Given the description of an element on the screen output the (x, y) to click on. 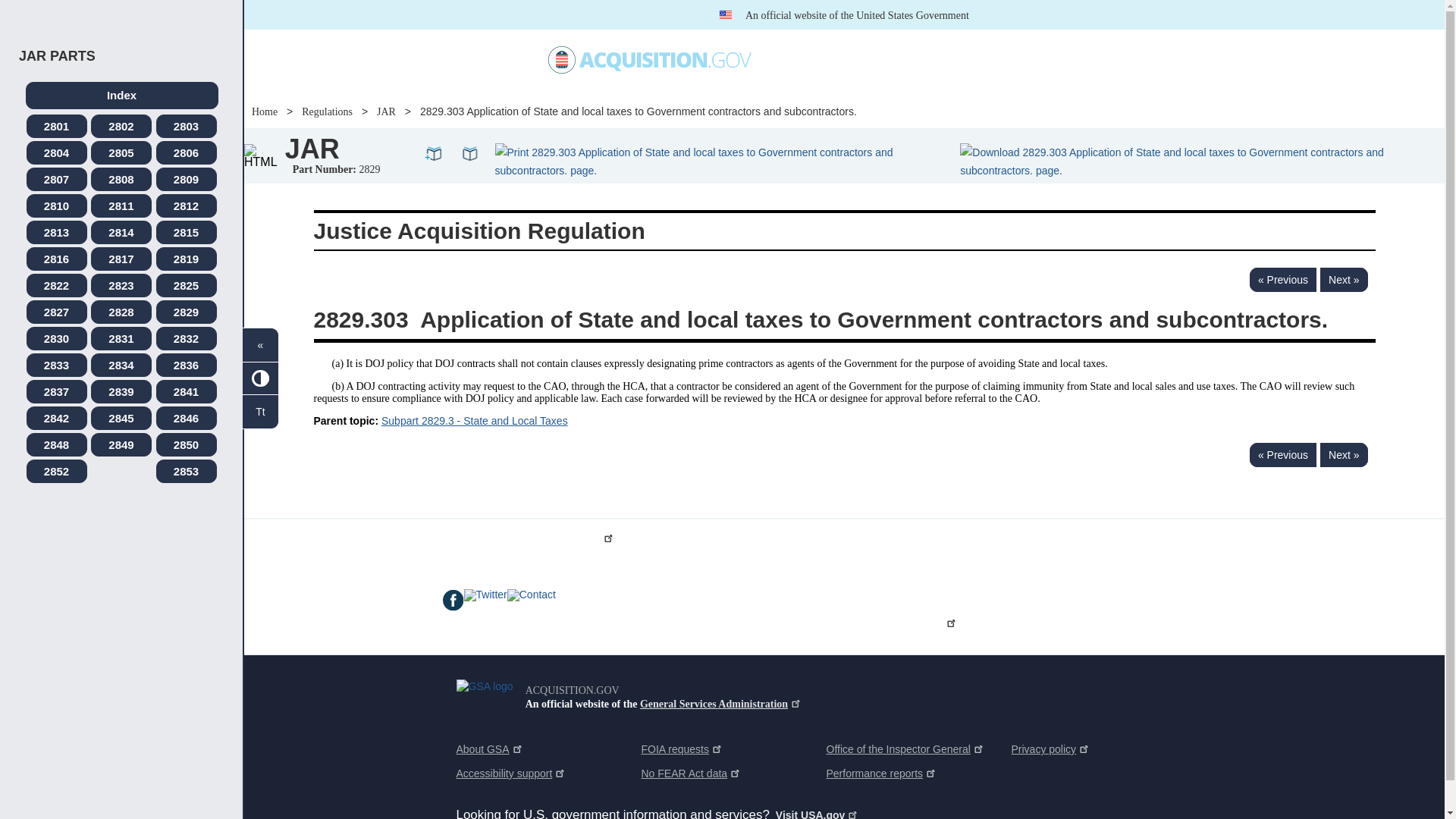
Data Initiatives (803, 59)
Tools (958, 60)
Add Bookmark (433, 152)
Previous (1282, 279)
Regulations (890, 59)
Open bookmarks. (470, 152)
Regulations (890, 59)
Data Initiatives (803, 59)
Next (1343, 279)
